Given the description of an element on the screen output the (x, y) to click on. 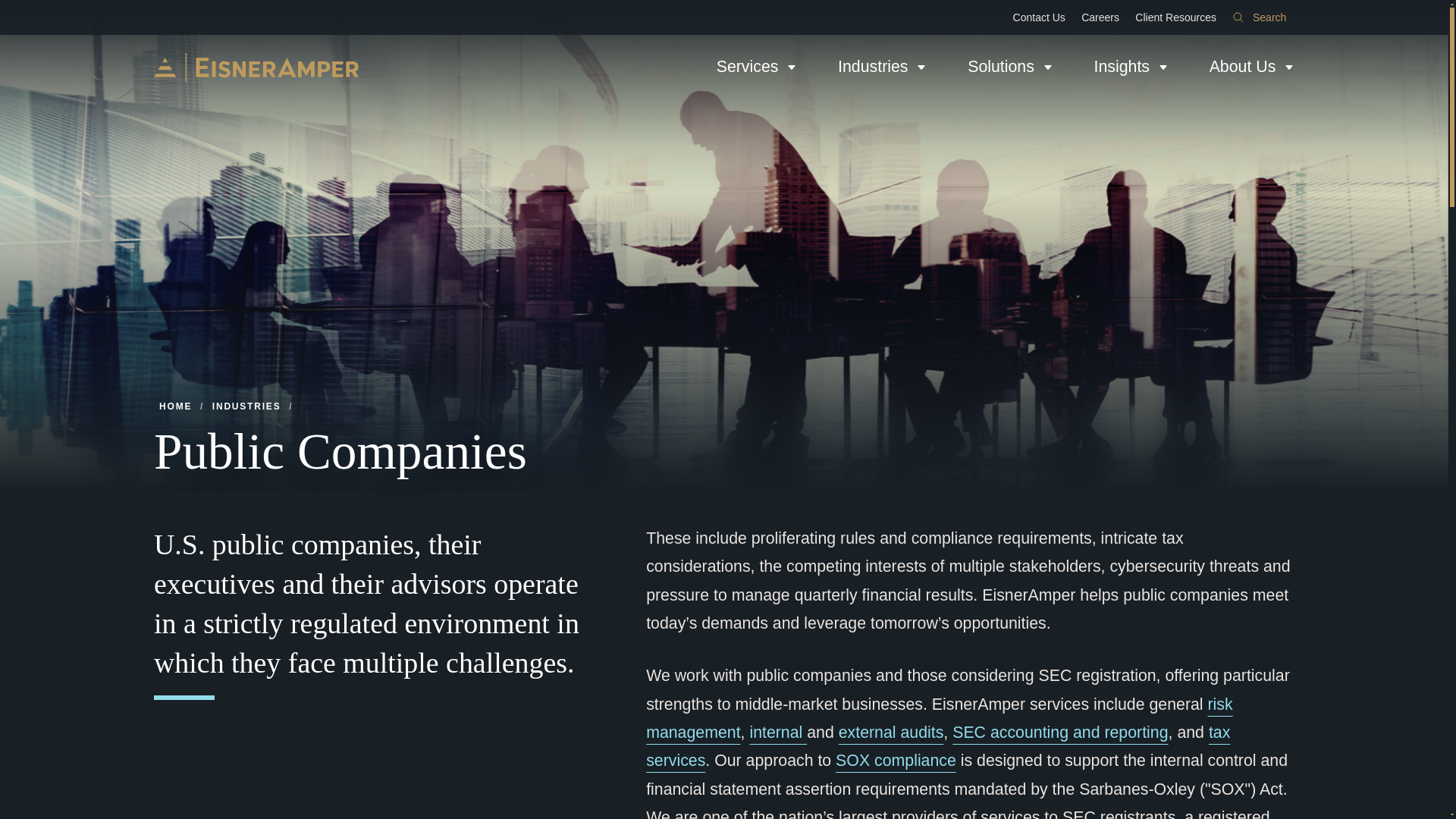
EisnerAmper Home (256, 67)
Client Resources (1175, 17)
Search (1259, 17)
Skip to content (12, 6)
Contact Us (1039, 17)
Careers (1100, 17)
